Given the description of an element on the screen output the (x, y) to click on. 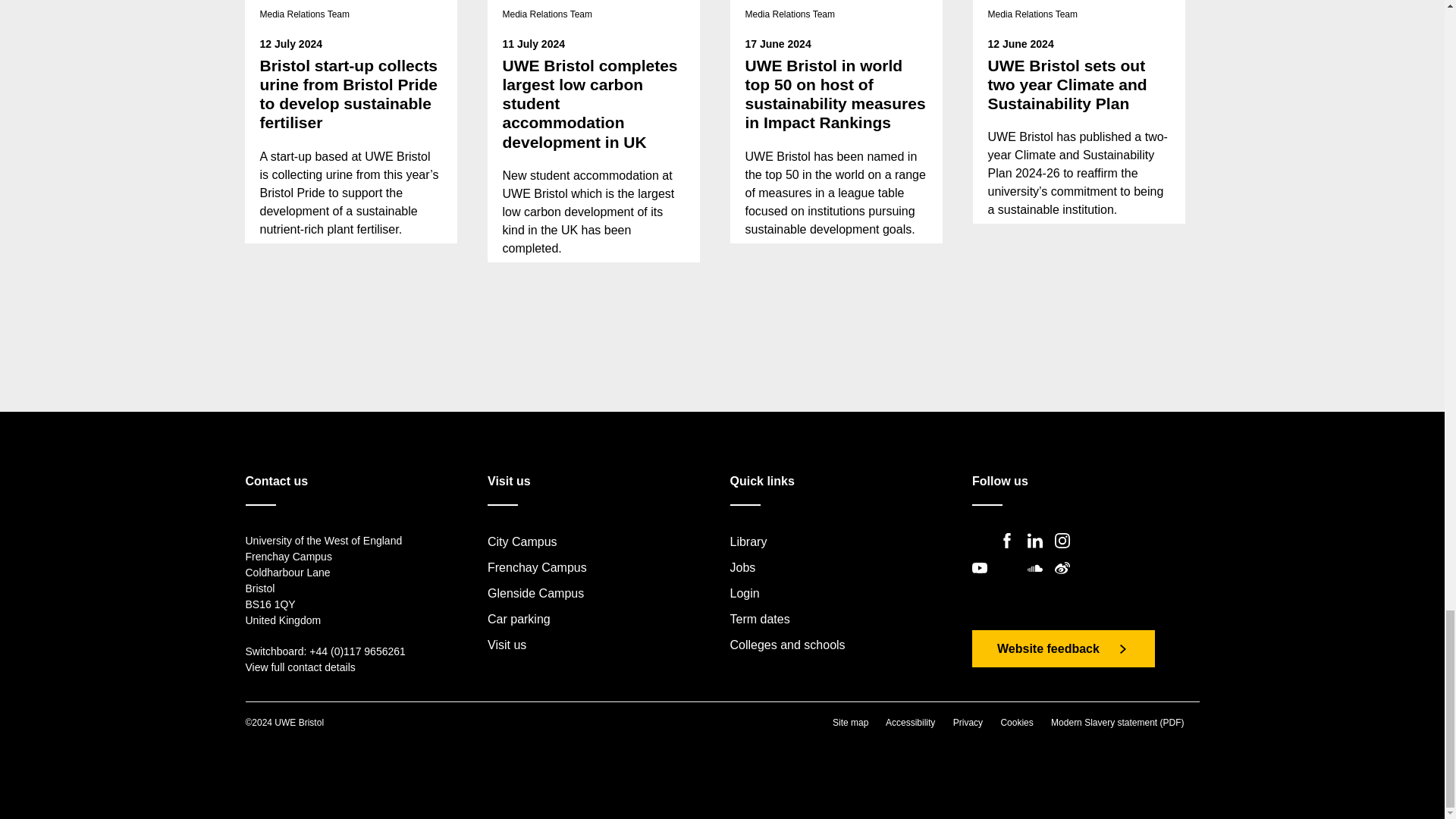
SoundCloud (1039, 580)
Instagram (1066, 553)
YouTube (983, 580)
Twitter (983, 553)
Facebook (1010, 553)
TikTok (1010, 580)
LinkedIn (1039, 553)
Weibo (1066, 580)
